Given the description of an element on the screen output the (x, y) to click on. 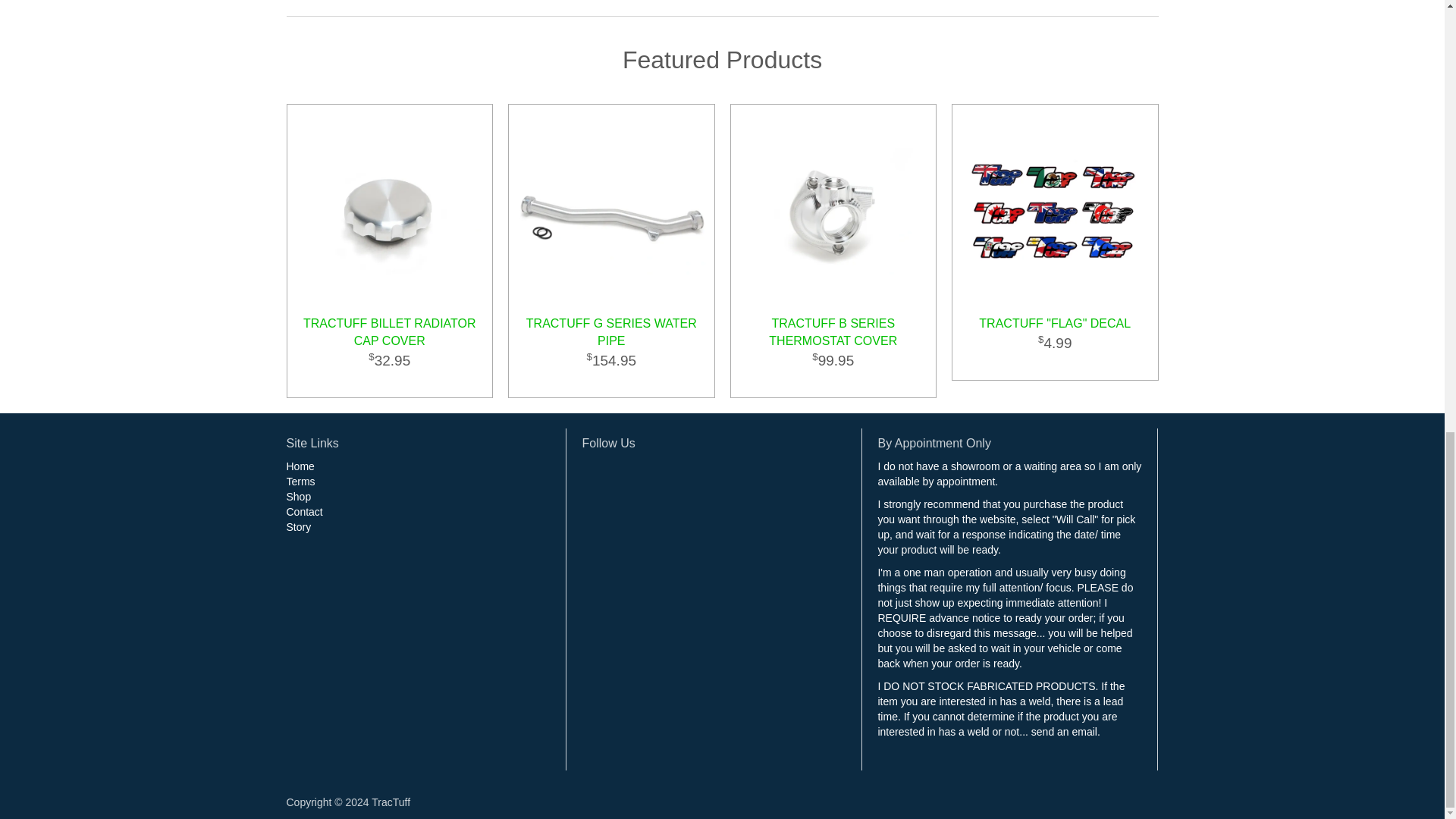
Terms (300, 481)
Home (300, 466)
